Given the description of an element on the screen output the (x, y) to click on. 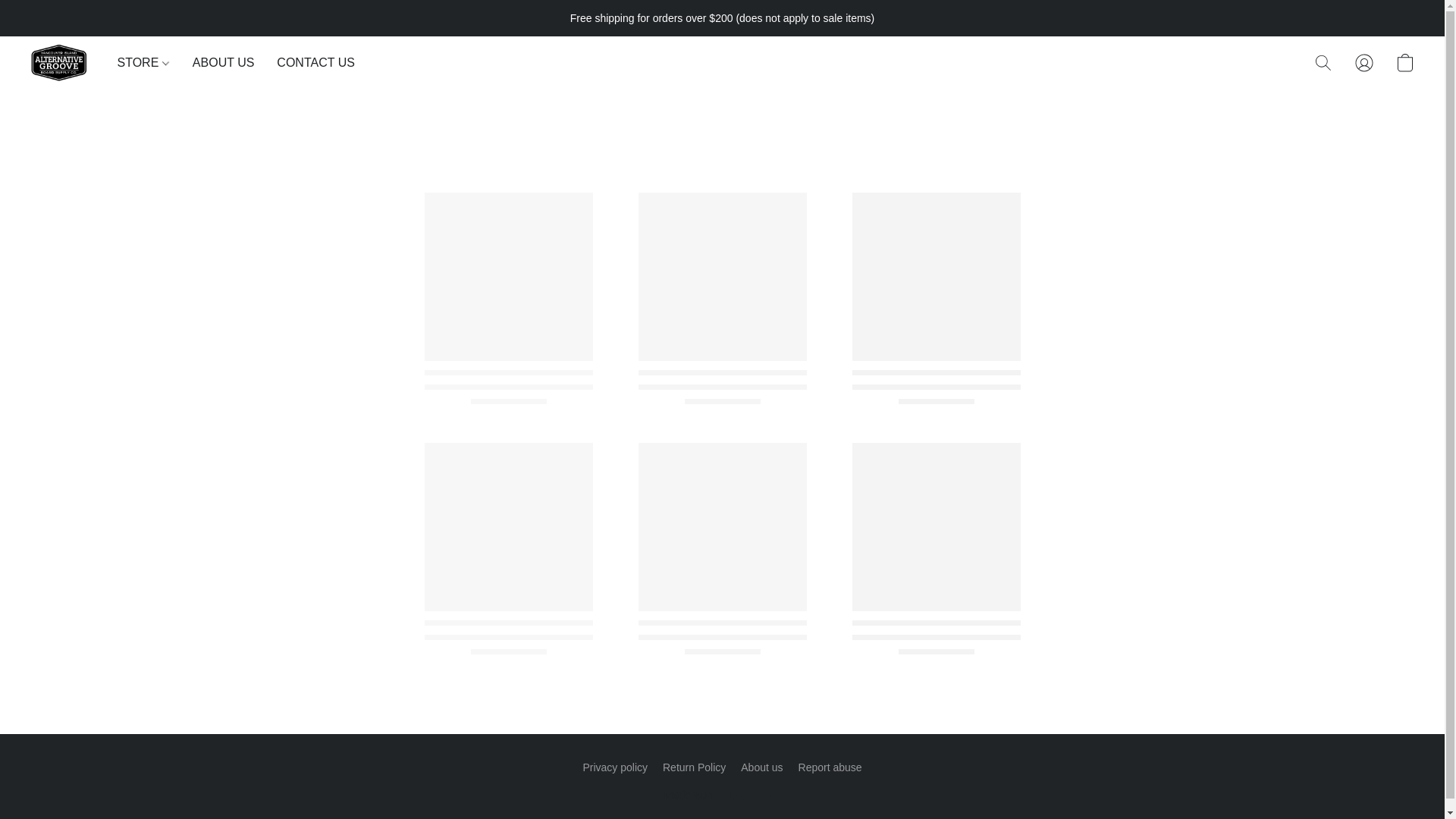
Go to your shopping cart (1404, 62)
Privacy policy (614, 767)
Search the website (1323, 62)
About us (762, 767)
ABOUT US (223, 62)
Return Policy (693, 767)
Report abuse (829, 767)
STORE (148, 62)
CONTACT US (309, 62)
Made with (721, 794)
